Given the description of an element on the screen output the (x, y) to click on. 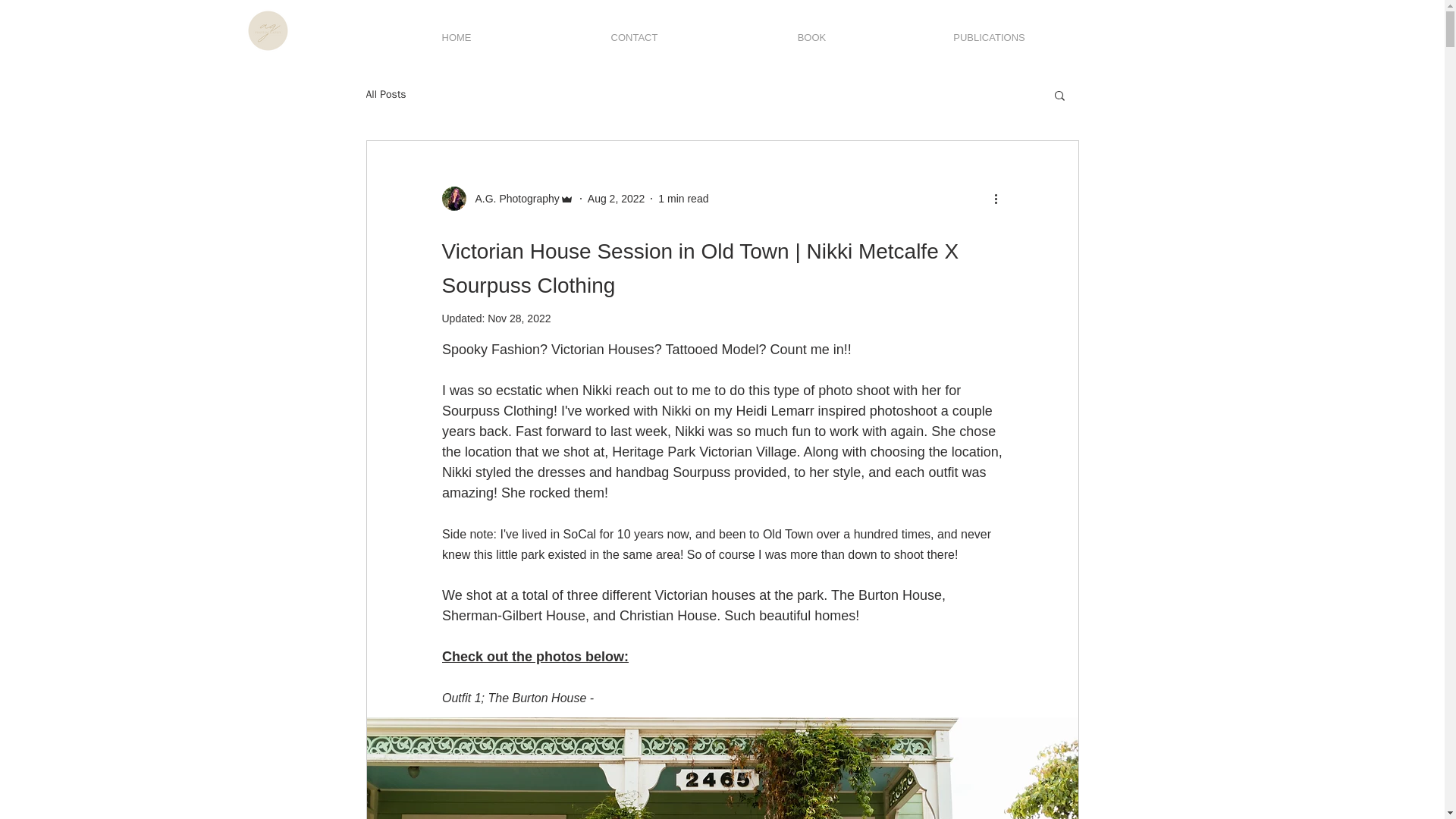
All Posts (385, 94)
A.G. Photography (507, 198)
BOOK (812, 30)
Nov 28, 2022 (518, 318)
PUBLICATIONS (989, 30)
HOME (455, 30)
Aug 2, 2022 (616, 198)
1 min read (682, 198)
CONTACT (634, 30)
A.G. Photography (512, 198)
